Given the description of an element on the screen output the (x, y) to click on. 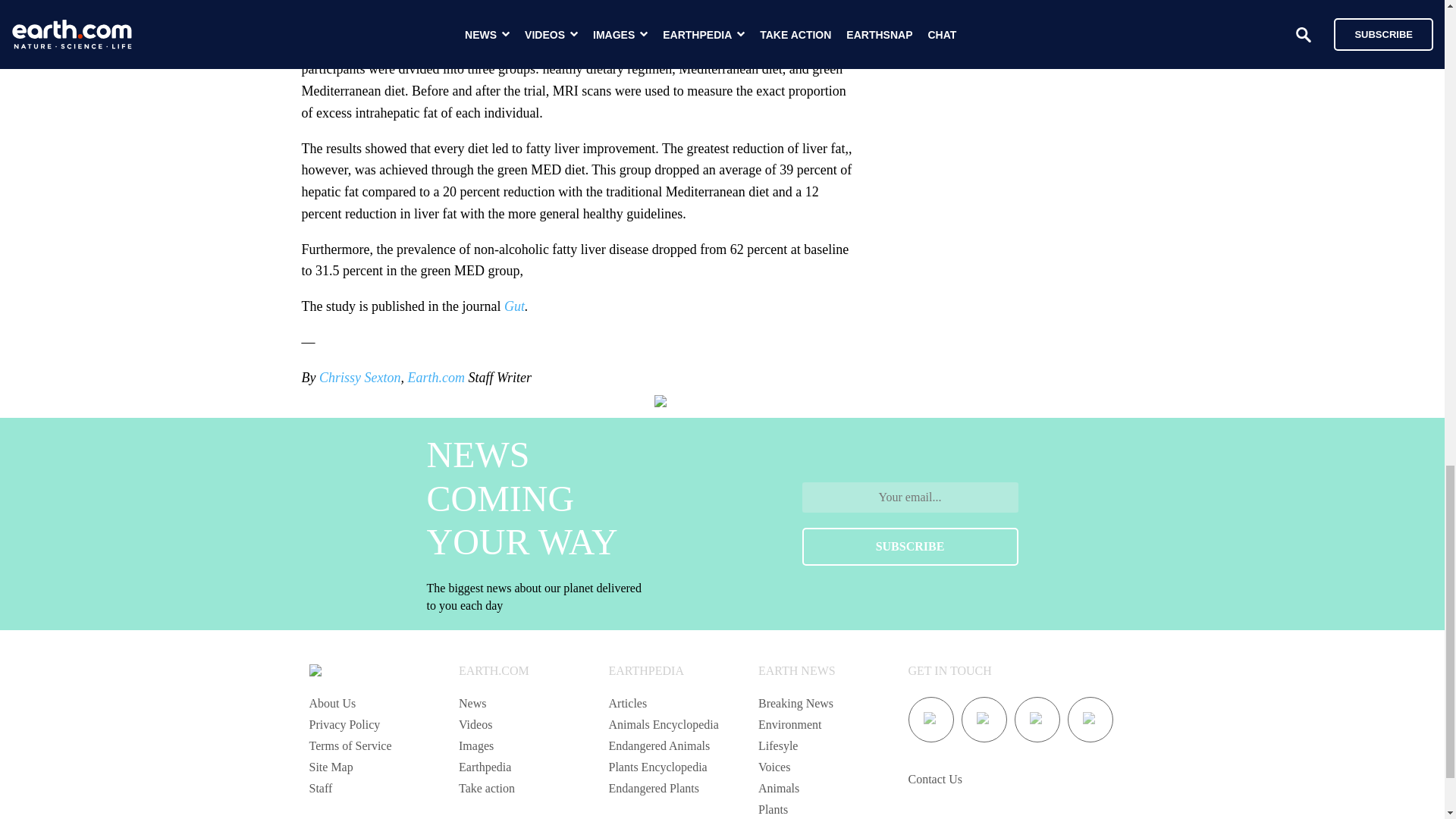
Chrissy Sexton (359, 377)
SUBSCRIBE (909, 546)
Gut (513, 305)
Earth.com (435, 377)
